Given the description of an element on the screen output the (x, y) to click on. 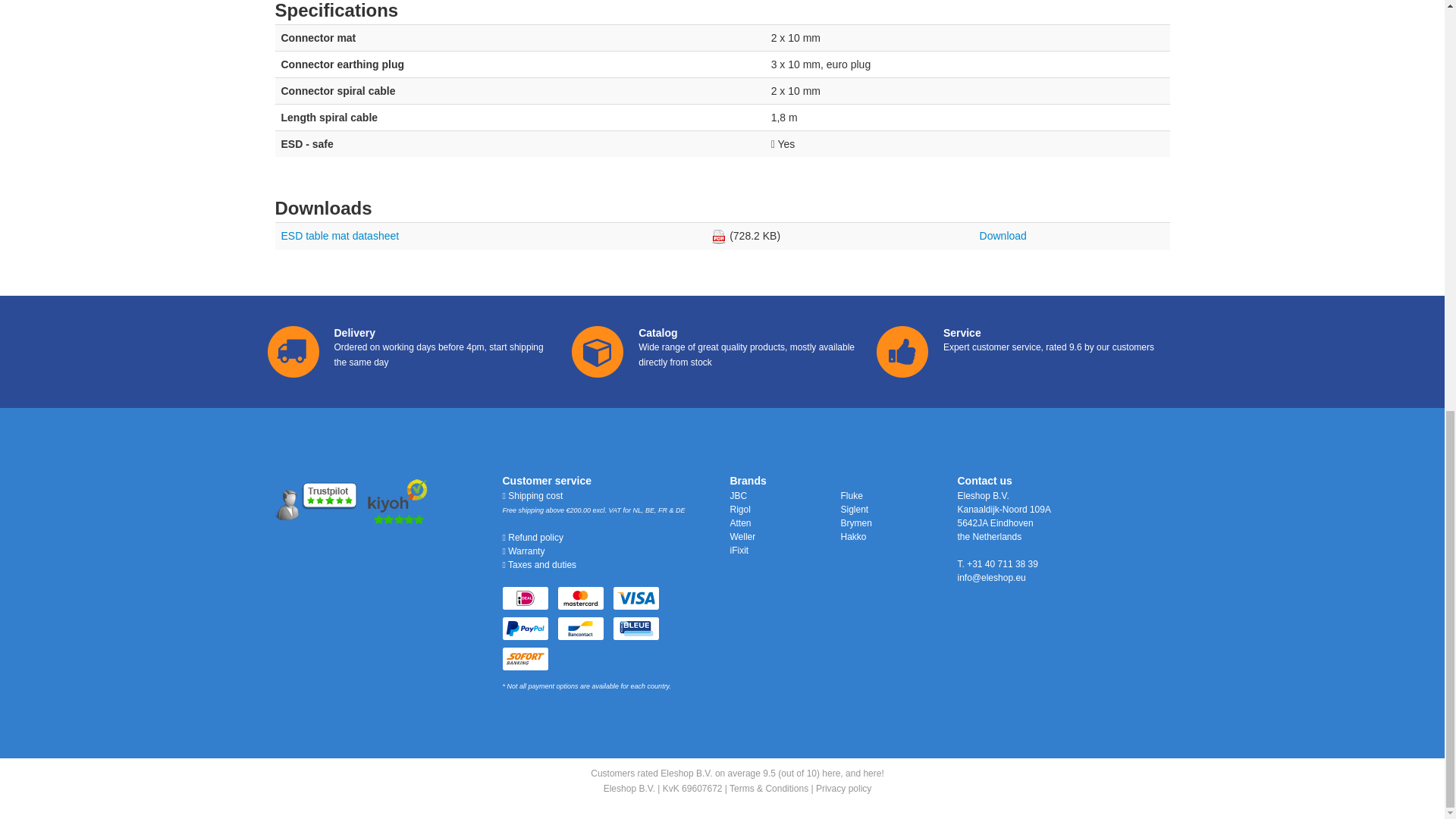
ESD table mat datasheet (339, 235)
ESD table mat datasheet (339, 235)
ESD table mat datasheet (1002, 235)
Download (1002, 235)
pdf (718, 236)
